Given the description of an element on the screen output the (x, y) to click on. 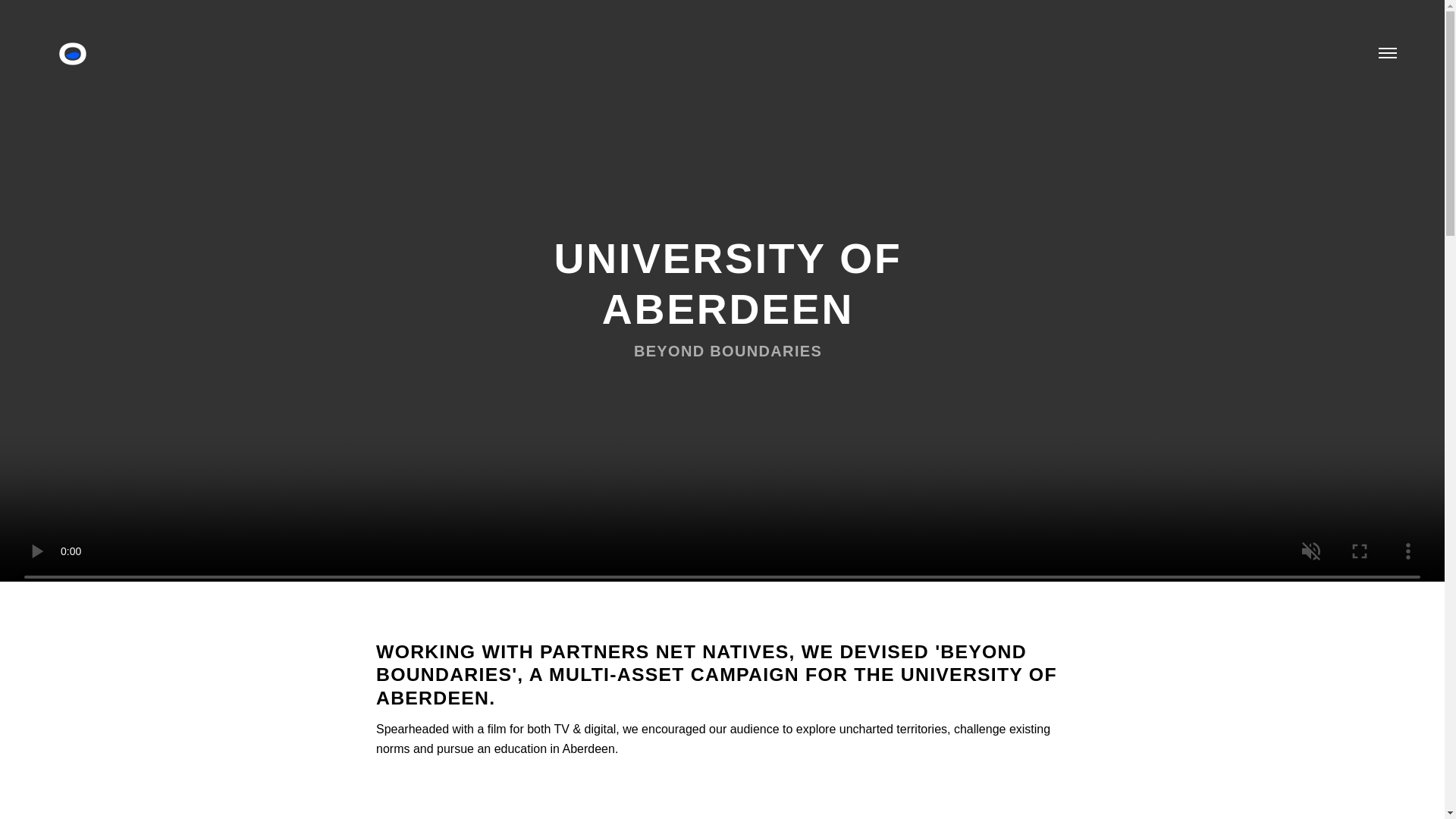
Website by Superrb (860, 774)
SUPERRB (860, 774)
LEGAL (767, 774)
